Given the description of an element on the screen output the (x, y) to click on. 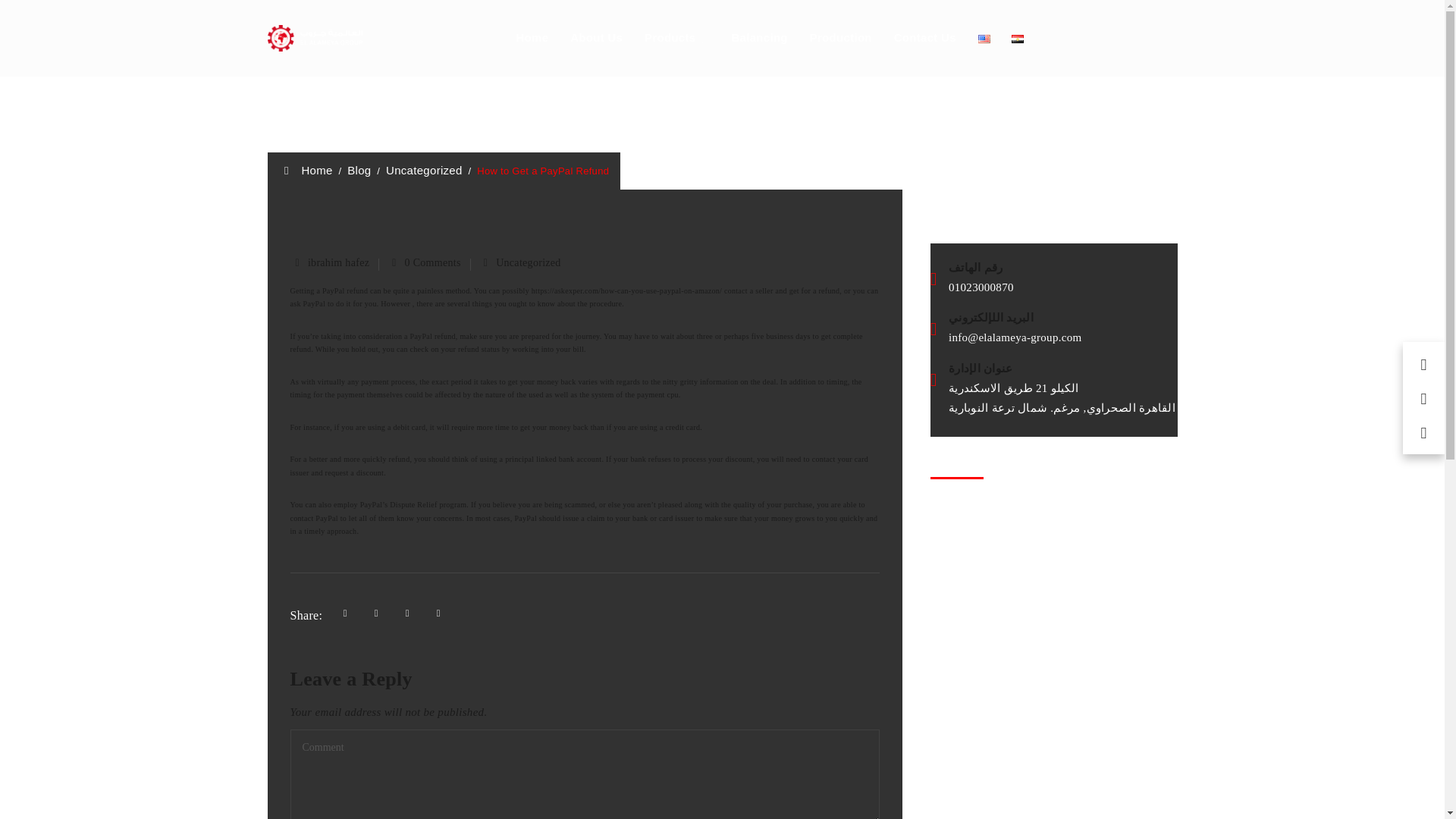
About Us (595, 38)
Blog (359, 169)
Products (669, 38)
0 Comments (432, 262)
Uncategorized (528, 262)
El Alameya Group (314, 38)
Go to the Uncategorized Category archives. (424, 169)
Balancing (758, 38)
Go to El Alameya Group. (306, 169)
Go to Blog. (359, 169)
Uncategorized (424, 169)
ibrahim hafez (338, 262)
  Home (306, 169)
Production (840, 38)
Contact Us (924, 38)
